Given the description of an element on the screen output the (x, y) to click on. 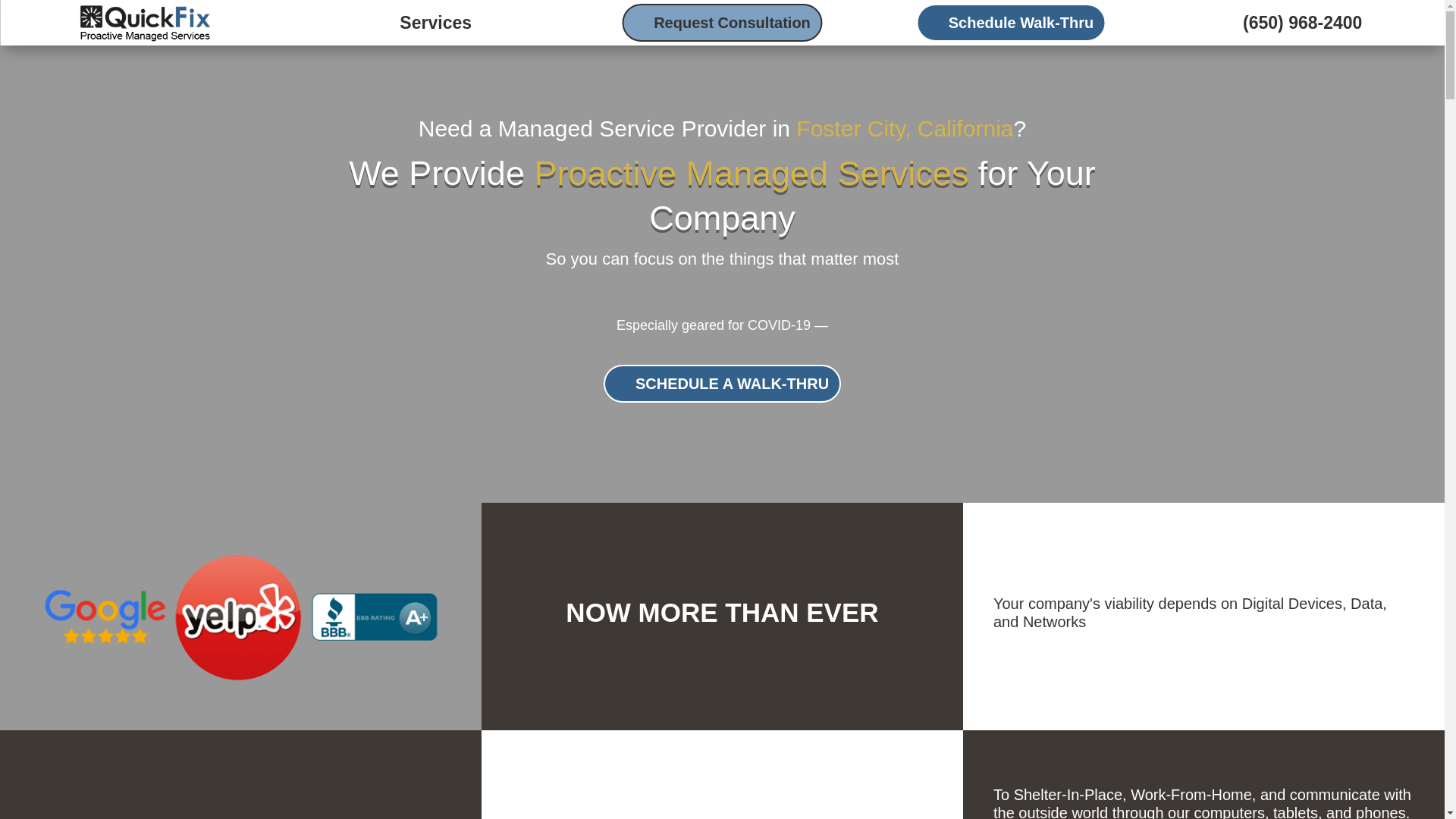
Schedule Walk-Thru (1011, 22)
SCHEDULE A WALK-THRU (722, 383)
qf-managed services - logo (144, 22)
Request Consultation (721, 22)
trsuted-by (240, 616)
